Given the description of an element on the screen output the (x, y) to click on. 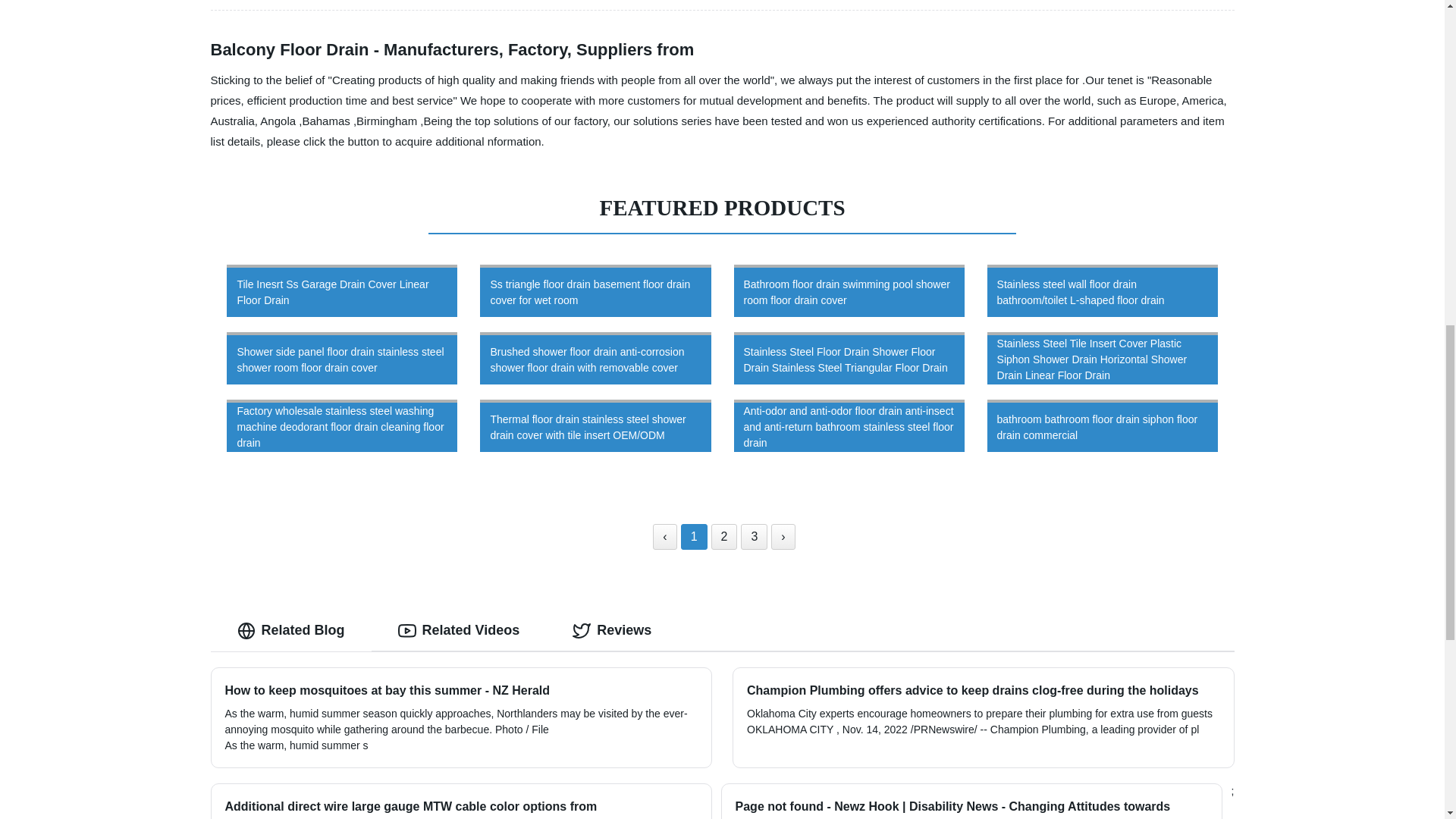
Tile Inesrt Ss Garage Drain Cover Linear Floor Drain (341, 290)
